Given the description of an element on the screen output the (x, y) to click on. 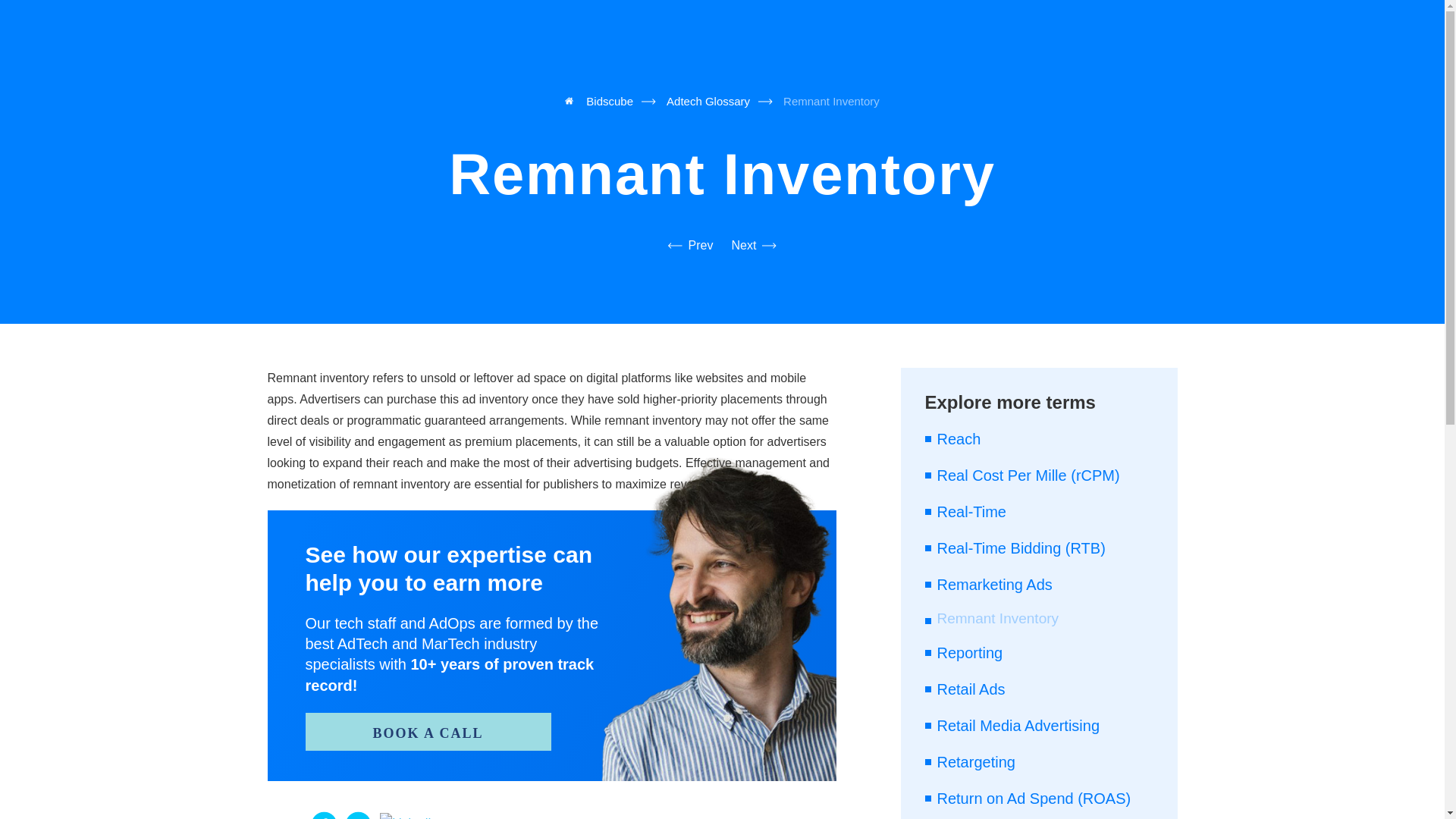
facebook (323, 815)
LinkedIn (409, 816)
Next (754, 245)
Remnant Inventory (831, 101)
twitter (358, 815)
Bidscube (598, 101)
Adtech Glossary (707, 101)
Prev (690, 245)
BOOK A CALL (427, 731)
